Given the description of an element on the screen output the (x, y) to click on. 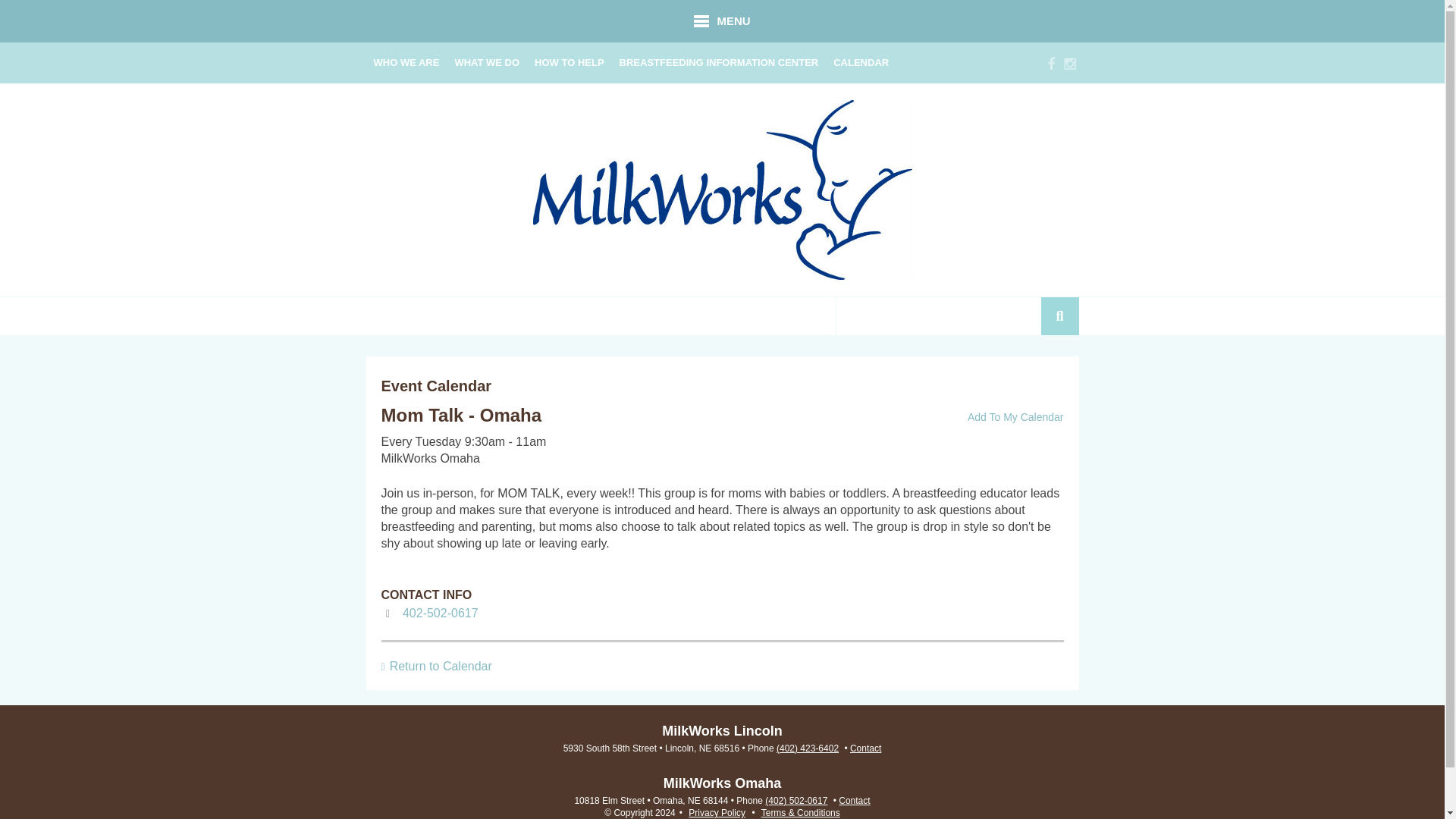
CALENDAR (860, 62)
HOW TO HELP (569, 62)
BREASTFEEDING INFORMATION CENTER (719, 62)
logo (721, 189)
WHAT WE DO (486, 62)
WHO WE ARE (405, 62)
